Given the description of an element on the screen output the (x, y) to click on. 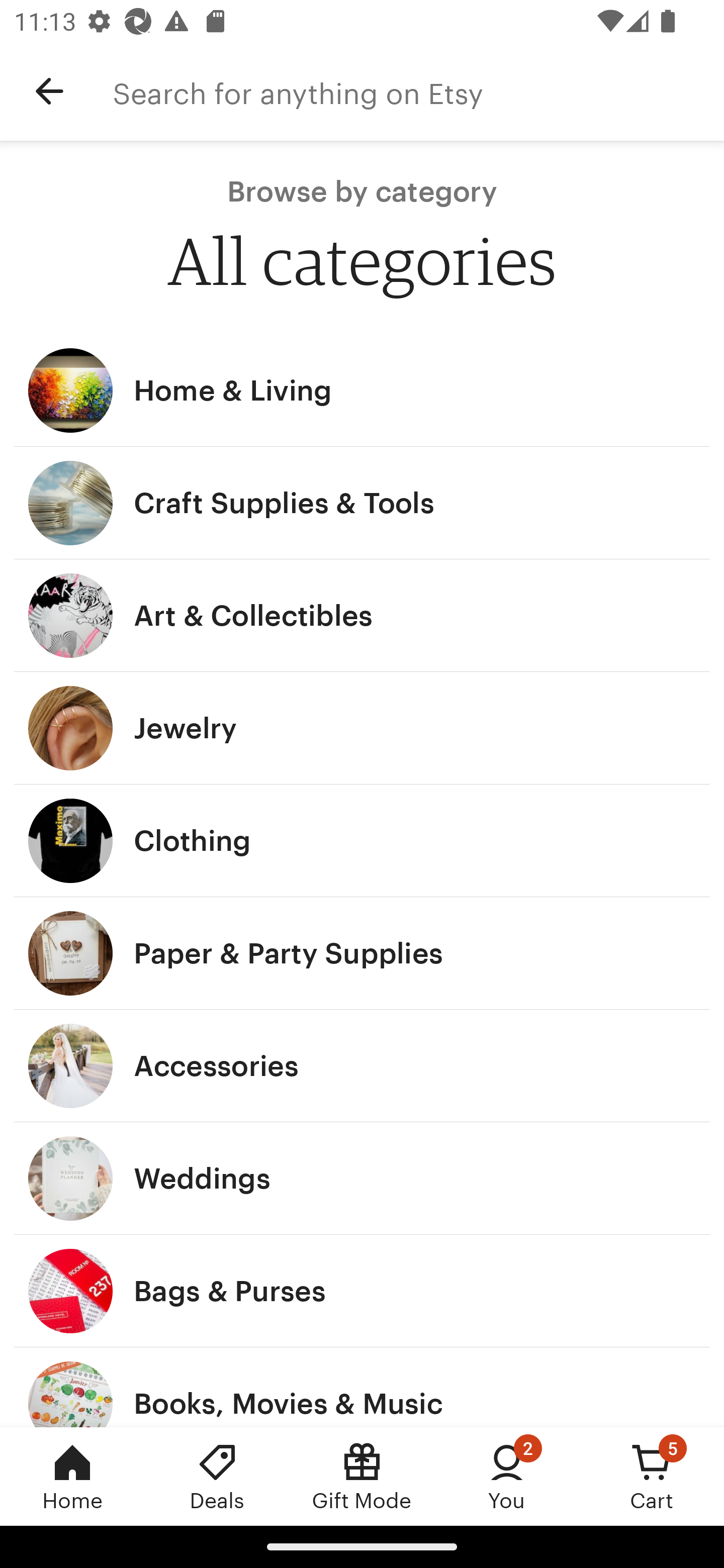
Navigate up (49, 91)
Search for anything on Etsy (418, 91)
Home & Living (361, 389)
Craft Supplies & Tools (361, 502)
Art & Collectibles (361, 615)
Jewelry (361, 728)
Clothing (361, 840)
Paper & Party Supplies (361, 952)
Accessories (361, 1065)
Weddings (361, 1178)
Bags & Purses (361, 1290)
Books, Movies & Music (361, 1386)
Deals (216, 1475)
Gift Mode (361, 1475)
You, 2 new notifications You (506, 1475)
Cart, 5 new notifications Cart (651, 1475)
